Given the description of an element on the screen output the (x, y) to click on. 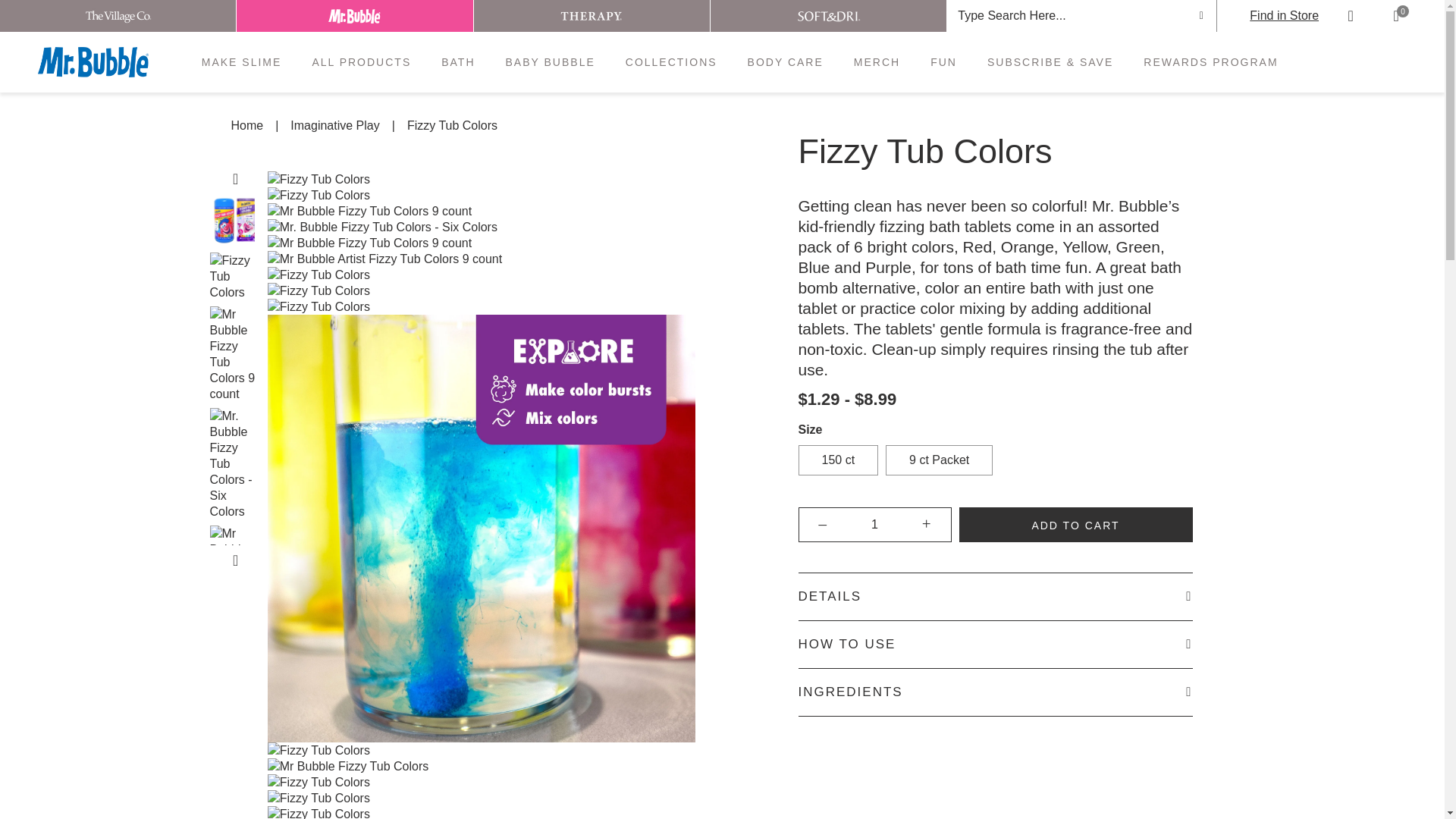
ALL PRODUCTS (360, 61)
MAKE SLIME (242, 61)
Back to the home page (246, 125)
COLLECTIONS (671, 61)
1 (874, 524)
Sign In (1350, 15)
BABY BUBBLE (550, 61)
Find in Store (1284, 15)
